Given the description of an element on the screen output the (x, y) to click on. 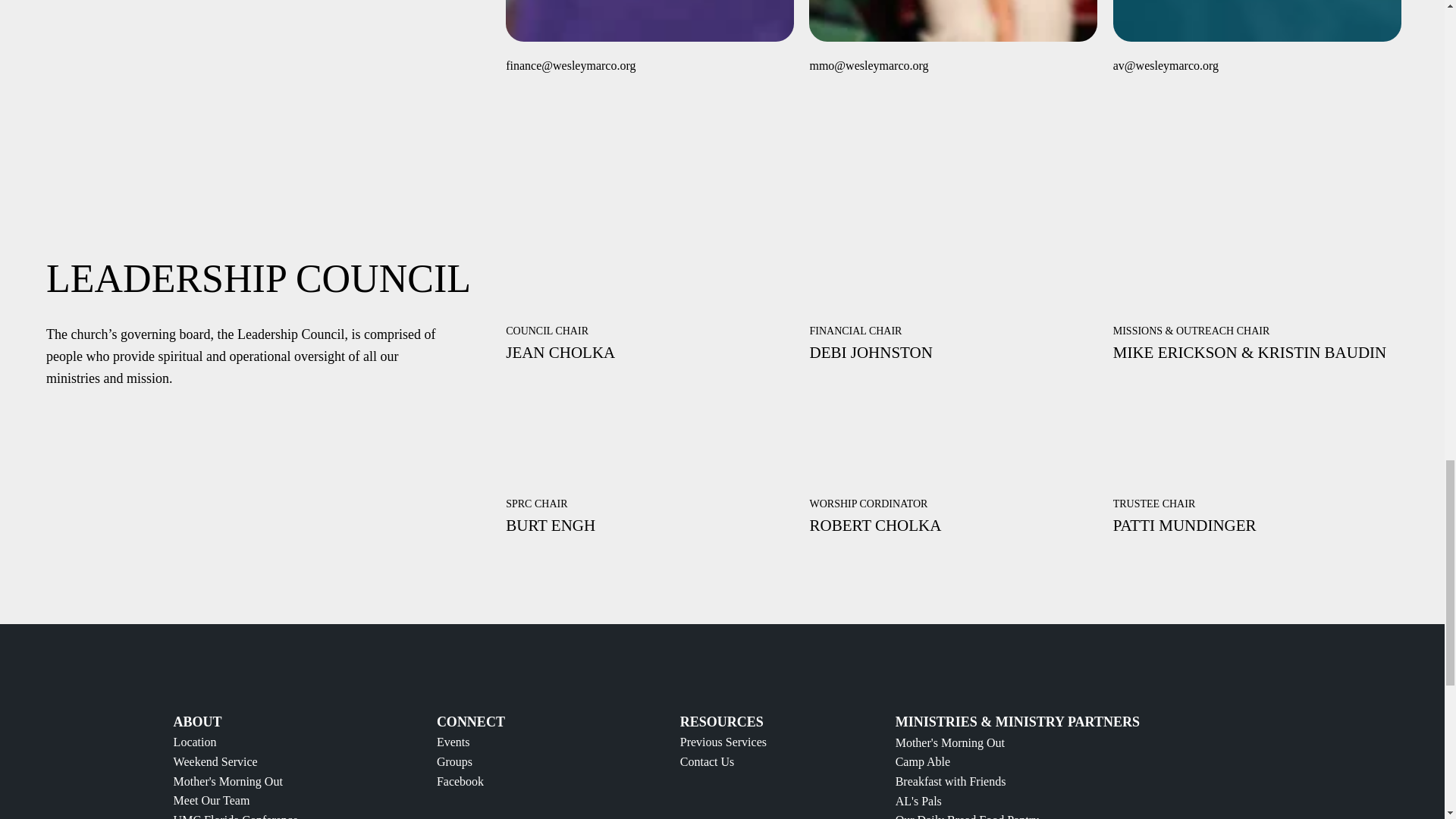
Groups (453, 761)
Location (194, 741)
Meet Our Team (211, 799)
Previous Services (723, 741)
Mother's Morning Out (227, 780)
AL's Pals (918, 800)
Camp Able (922, 761)
Our Daily Bread Food Pantry (967, 816)
Facebook (459, 780)
Weekend Service (215, 761)
Contact Us (707, 761)
UMC Florida Conference (235, 816)
Mother's Morning Out (949, 742)
